Given the description of an element on the screen output the (x, y) to click on. 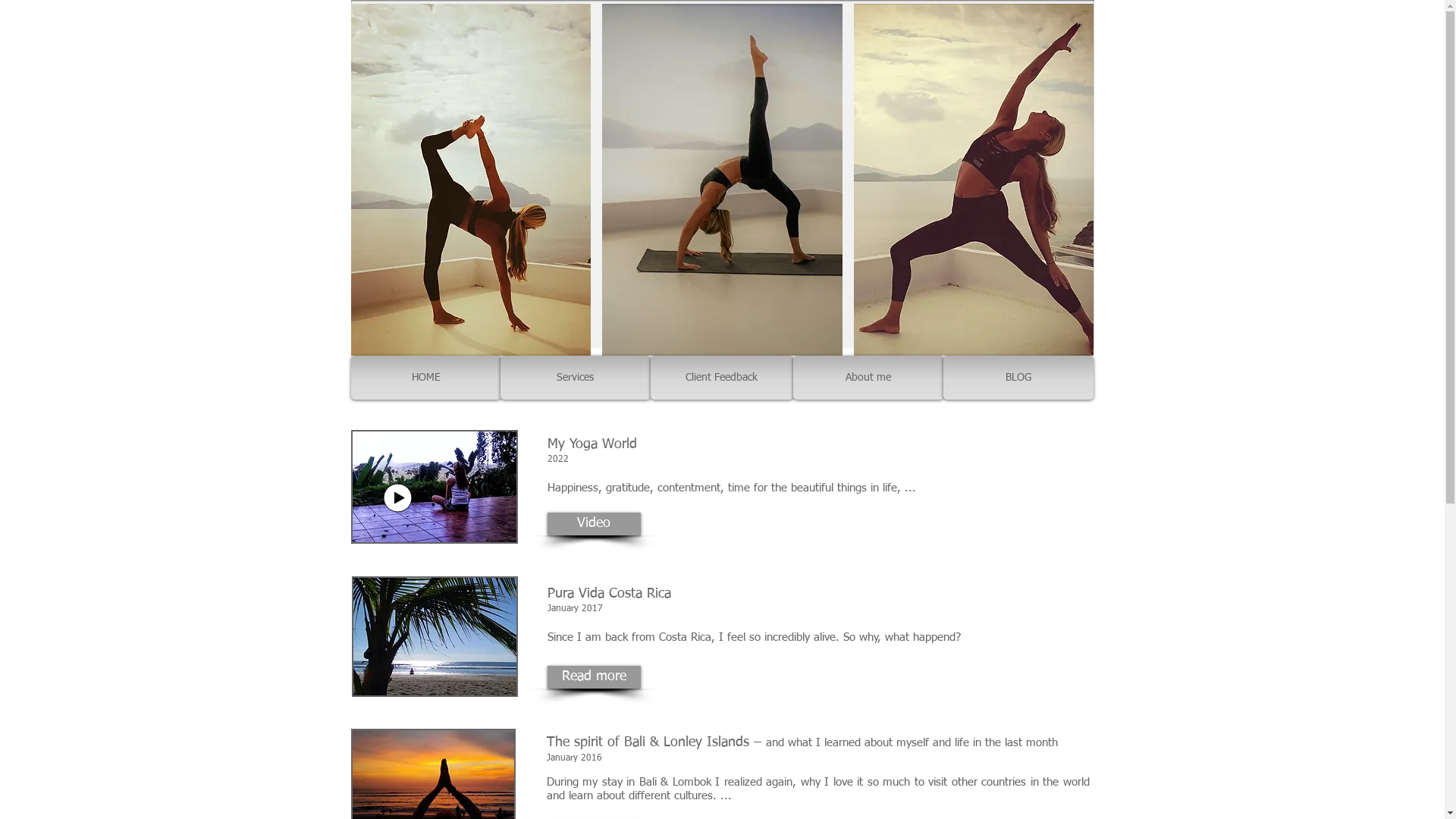
IMG_20170111_152828.jpg Element type: hover (434, 636)
Client Feedback Element type: text (721, 377)
BLOG Element type: text (1018, 377)
About me Element type: text (868, 377)
HOME Element type: text (425, 377)
Services Element type: text (575, 377)
Video Element type: text (593, 523)
Read more Element type: text (593, 676)
